Given the description of an element on the screen output the (x, y) to click on. 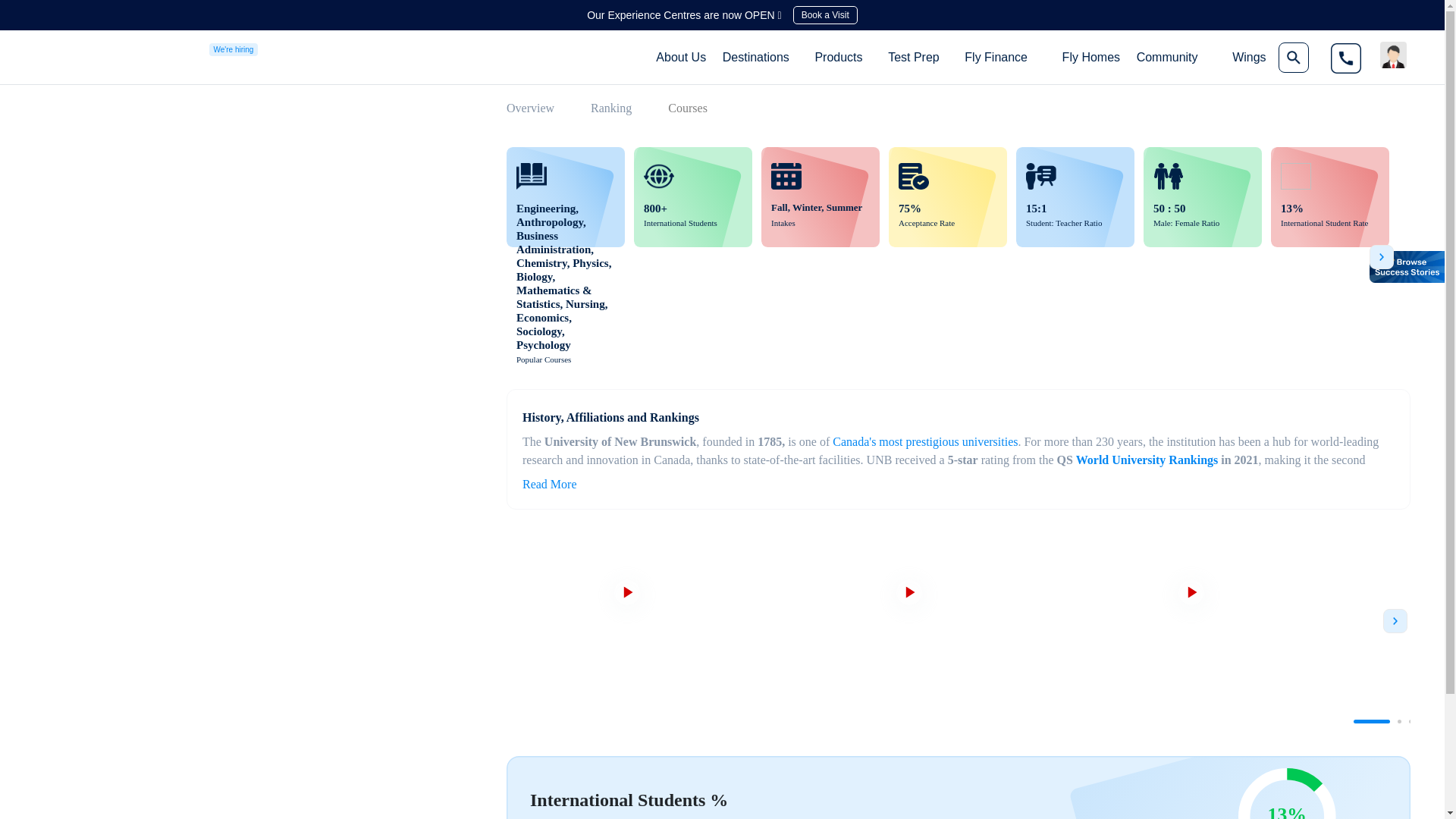
Destinations (755, 56)
Fly Finance (995, 56)
We're hiring (234, 48)
Fly Homes (1090, 57)
Products (837, 56)
Test Prep (914, 56)
About Us (681, 57)
Book a Visit (825, 14)
